Given the description of an element on the screen output the (x, y) to click on. 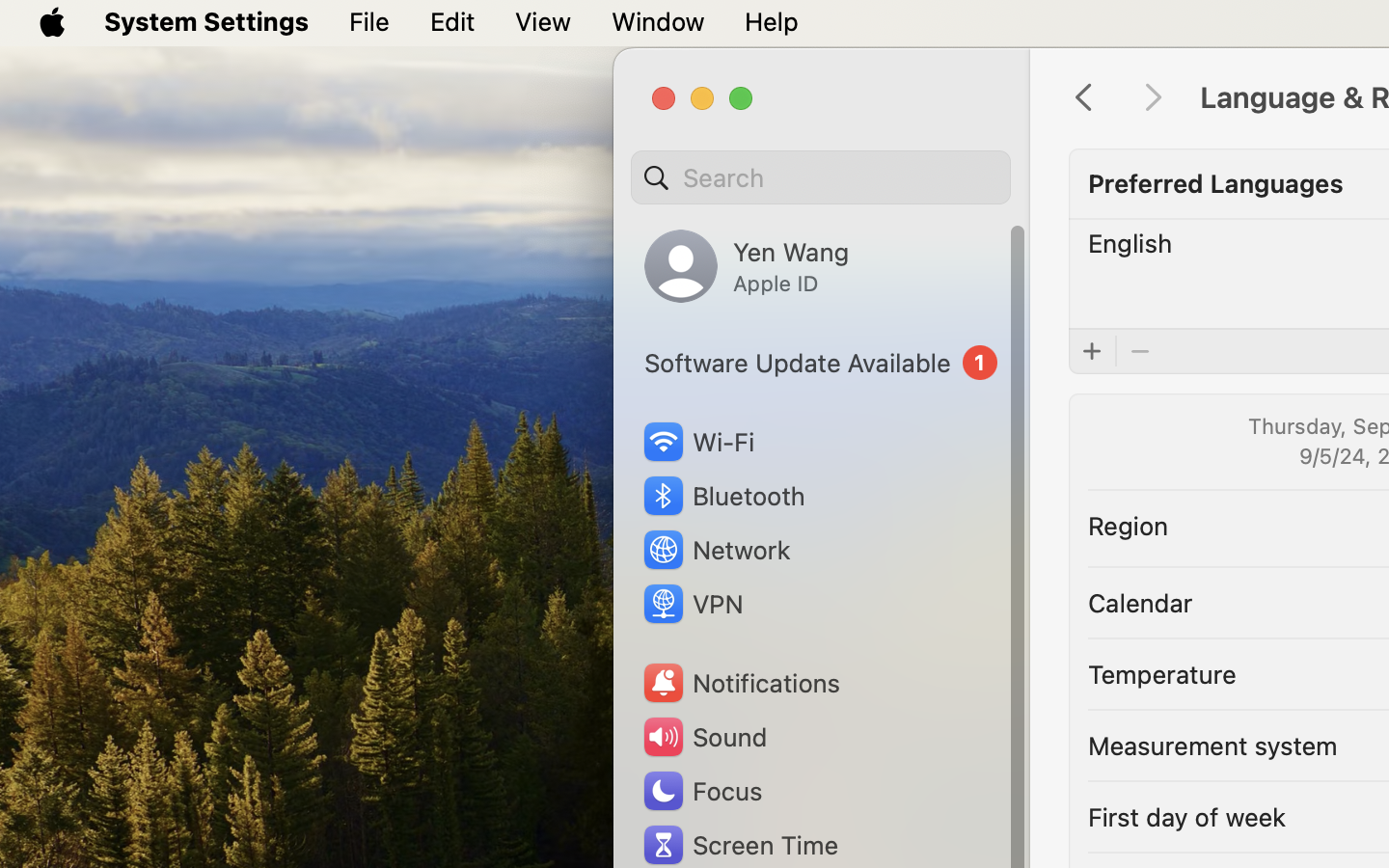
1 Element type: AXStaticText (820, 362)
Screen Time Element type: AXStaticText (739, 844)
Calendar Element type: AXStaticText (1140, 601)
Network Element type: AXStaticText (715, 549)
Notifications Element type: AXStaticText (740, 682)
